Given the description of an element on the screen output the (x, y) to click on. 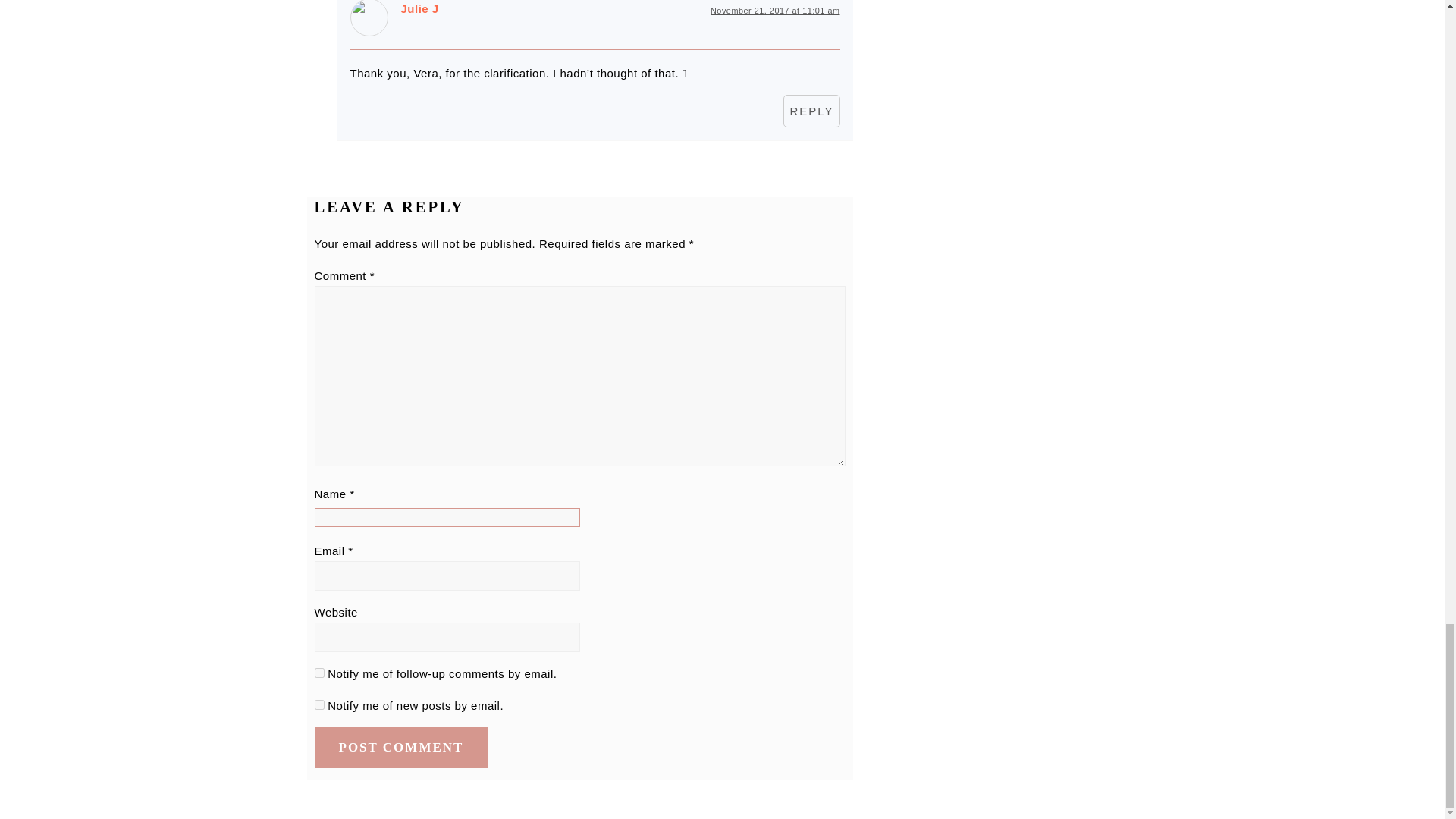
subscribe (318, 673)
subscribe (318, 705)
Post Comment (400, 747)
